Given the description of an element on the screen output the (x, y) to click on. 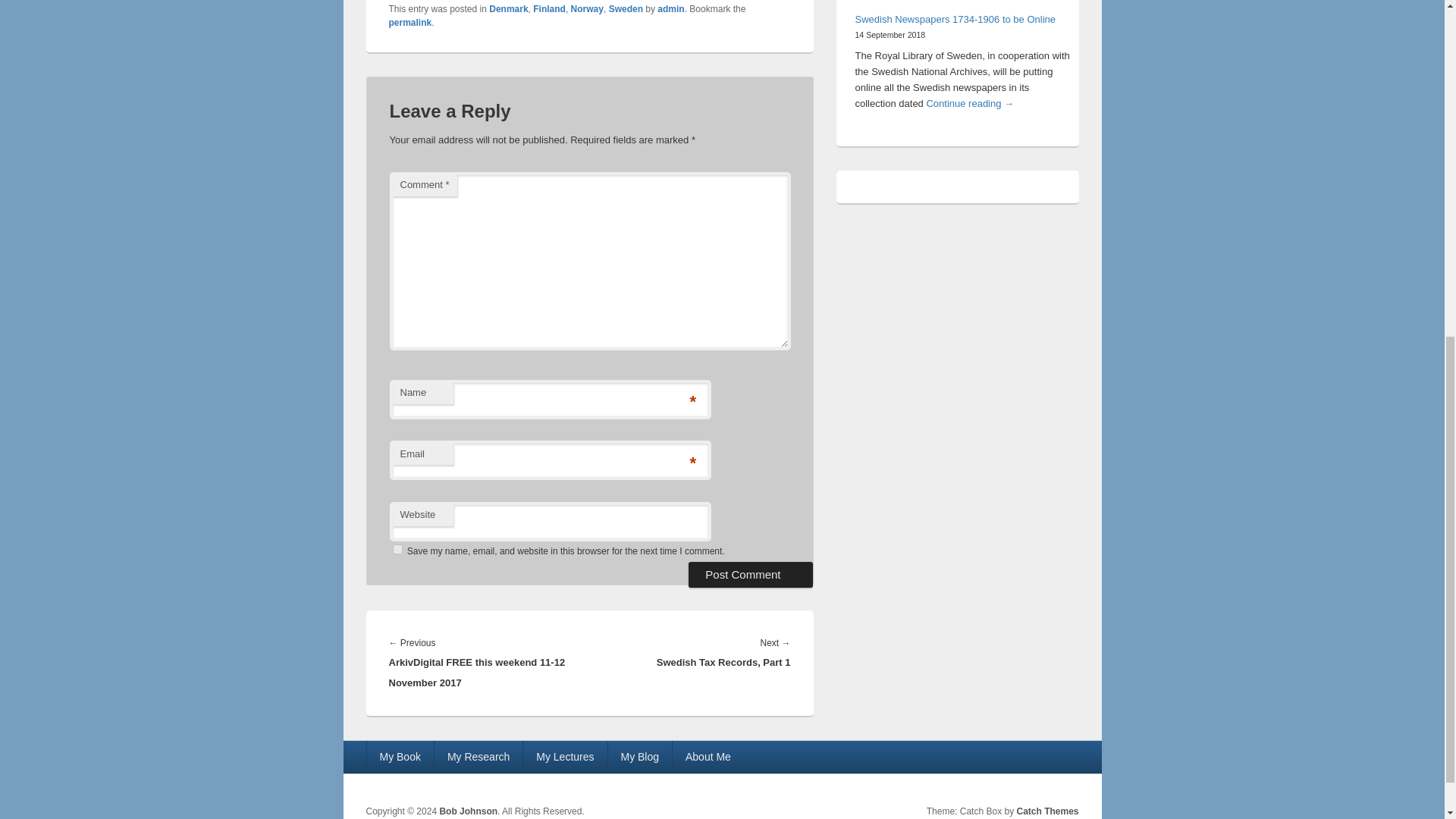
permalink (409, 22)
Norway (587, 9)
My Blog (640, 757)
Permalink to Research on Scandinavian DNA (409, 22)
admin (671, 9)
Bob Johnson (468, 810)
Finland (549, 9)
My Lectures (564, 757)
About Me (708, 757)
My Research (477, 757)
